Given the description of an element on the screen output the (x, y) to click on. 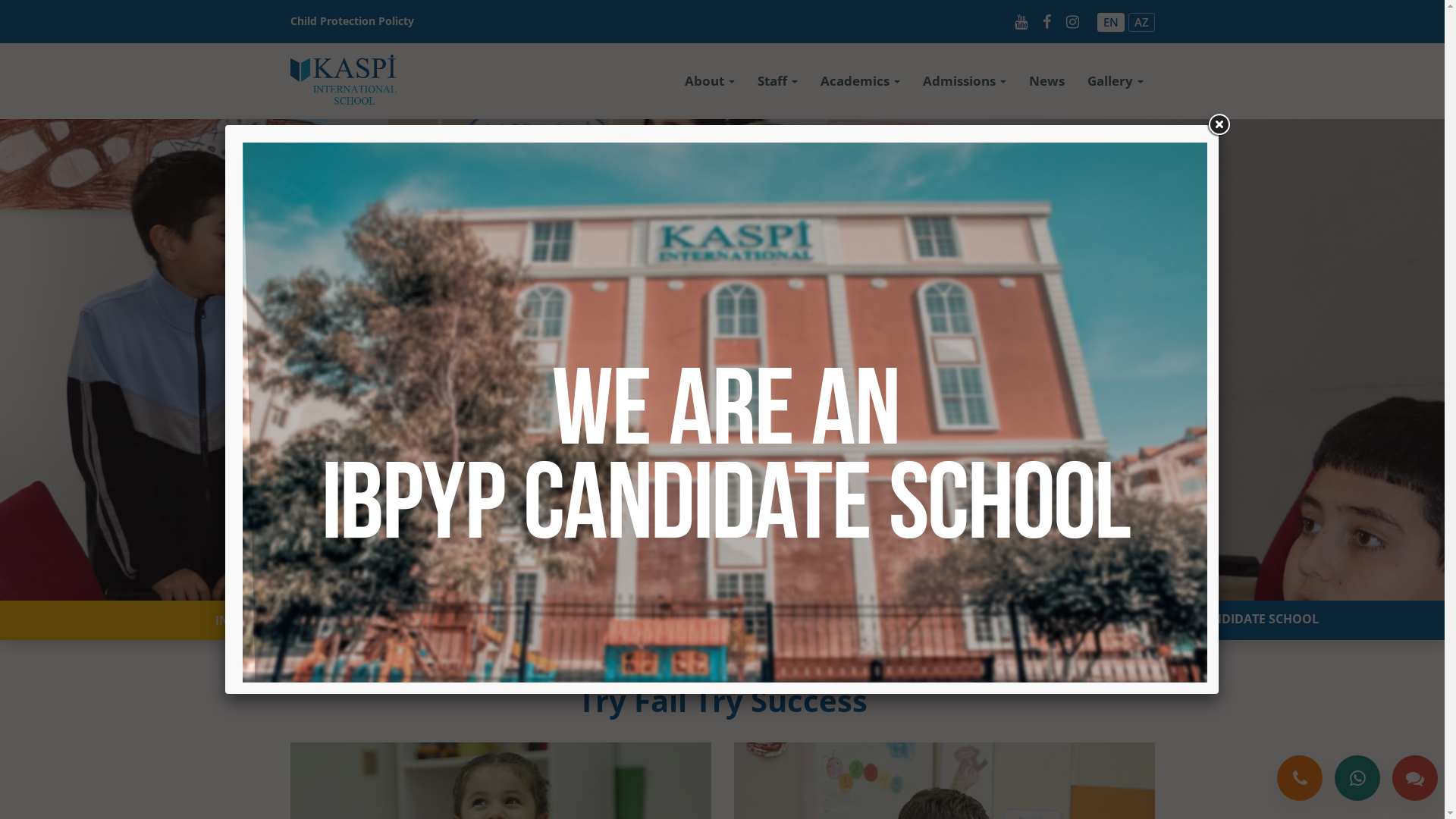
Staff Element type: text (777, 81)
EN Element type: text (1109, 21)
WE ARE AN IBPYP CANDIDATE SCHOOL Element type: text (1203, 618)
Academics Element type: text (859, 81)
AZ Element type: text (1141, 21)
News Element type: text (1046, 81)
Admissions Element type: text (964, 81)
Gallery Element type: text (1114, 81)
Child Protection Policty Element type: text (351, 20)
INQUIRE Element type: text (240, 620)
Close Element type: hover (1218, 124)
APPLY NOW Element type: text (722, 618)
About Element type: text (709, 81)
